Given the description of an element on the screen output the (x, y) to click on. 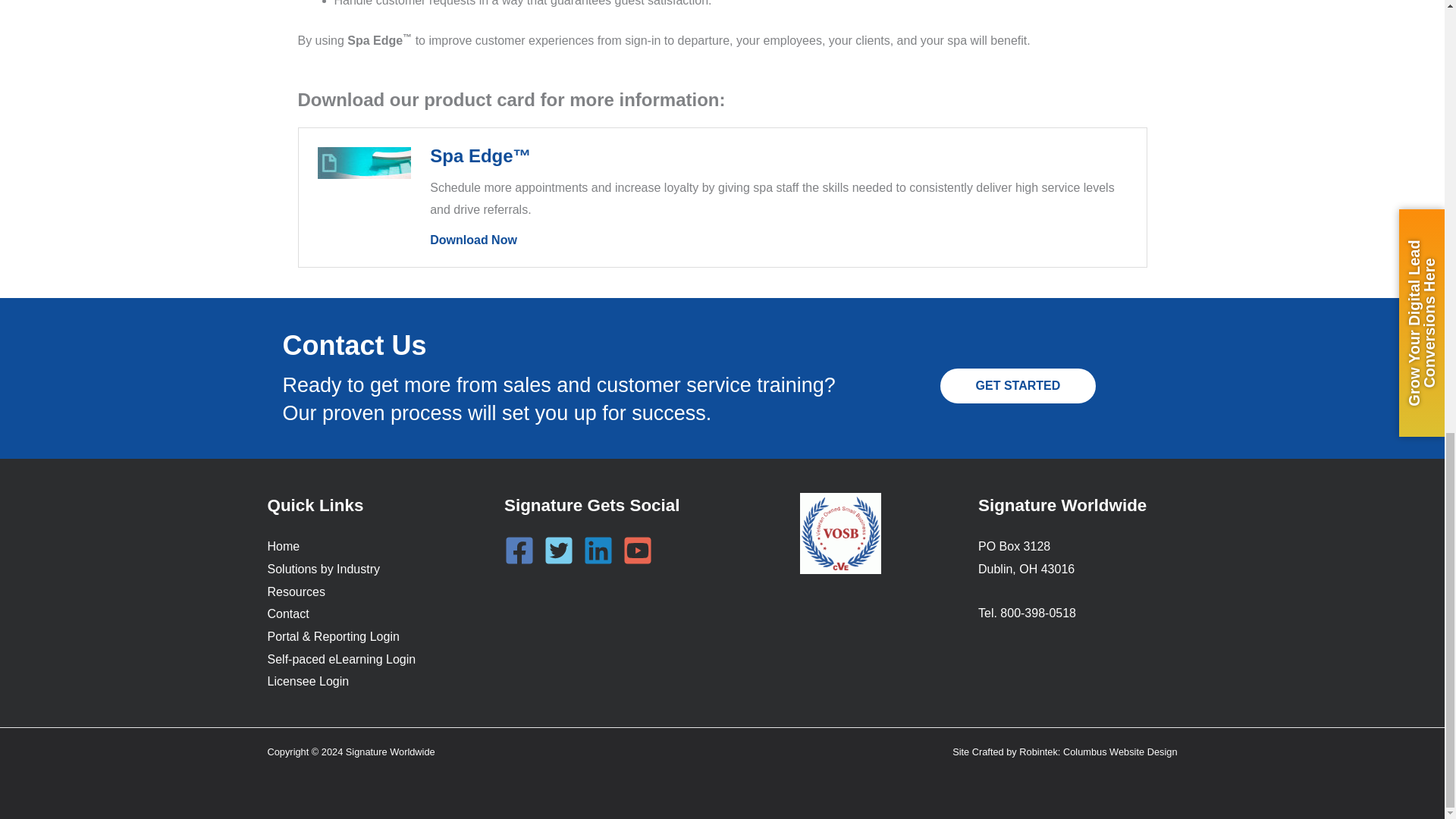
spa-edge-icon (363, 163)
